Given the description of an element on the screen output the (x, y) to click on. 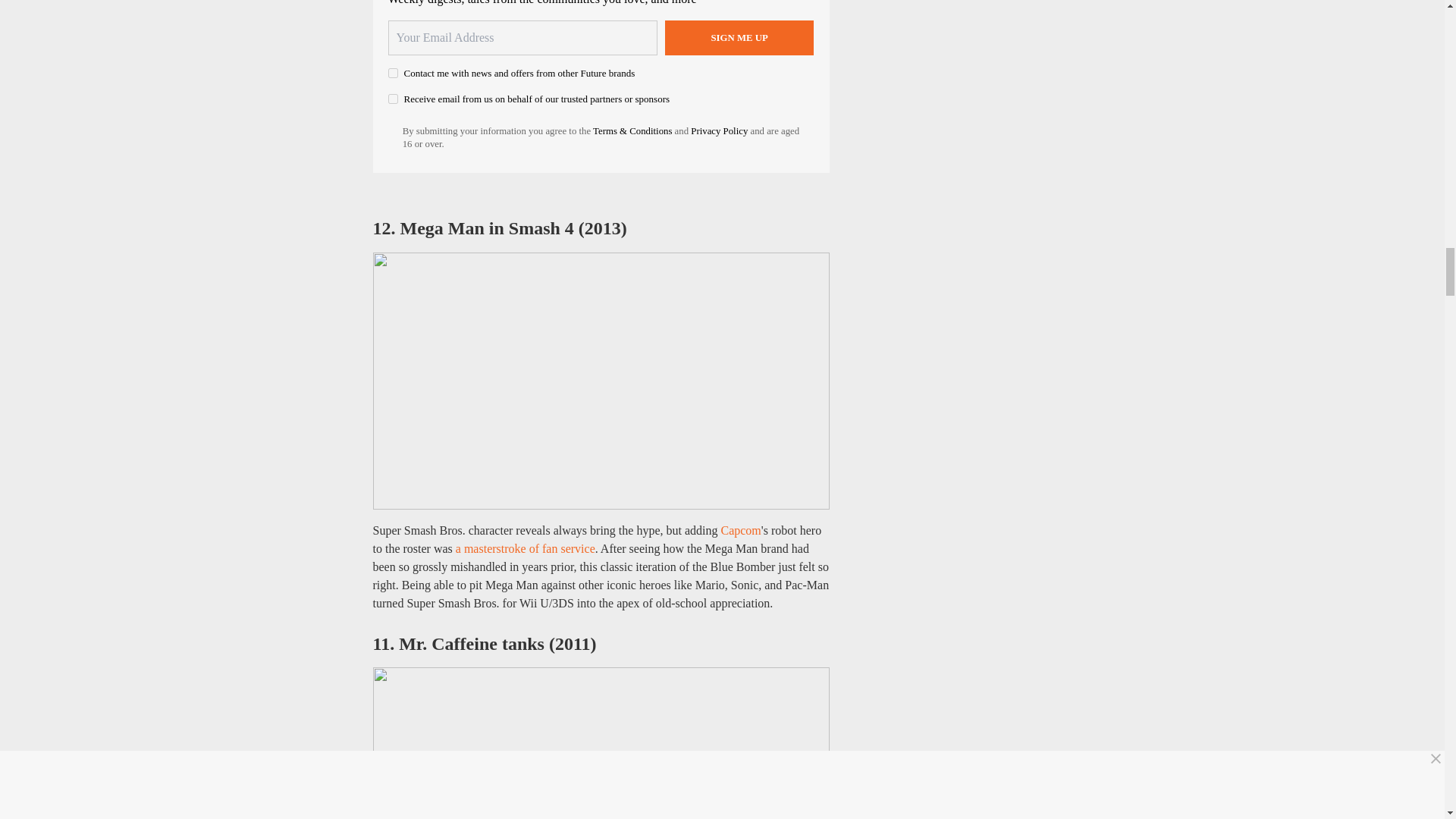
on (392, 72)
on (392, 99)
Sign me up (739, 37)
